Given the description of an element on the screen output the (x, y) to click on. 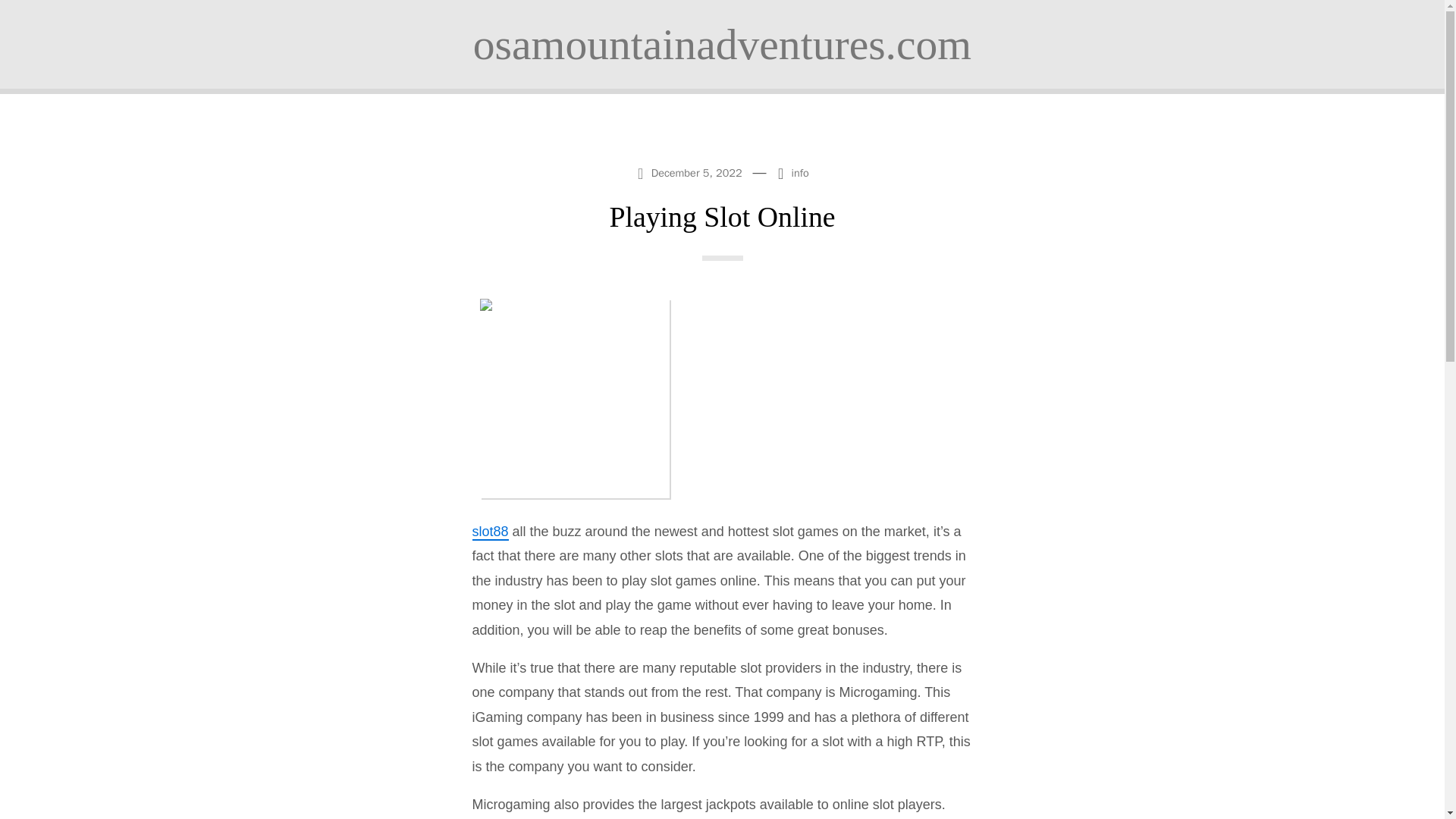
December 5, 2022 (691, 171)
info (800, 172)
osamountainadventures.com (722, 43)
Playing Slot Online (721, 216)
slot88 (489, 532)
